Given the description of an element on the screen output the (x, y) to click on. 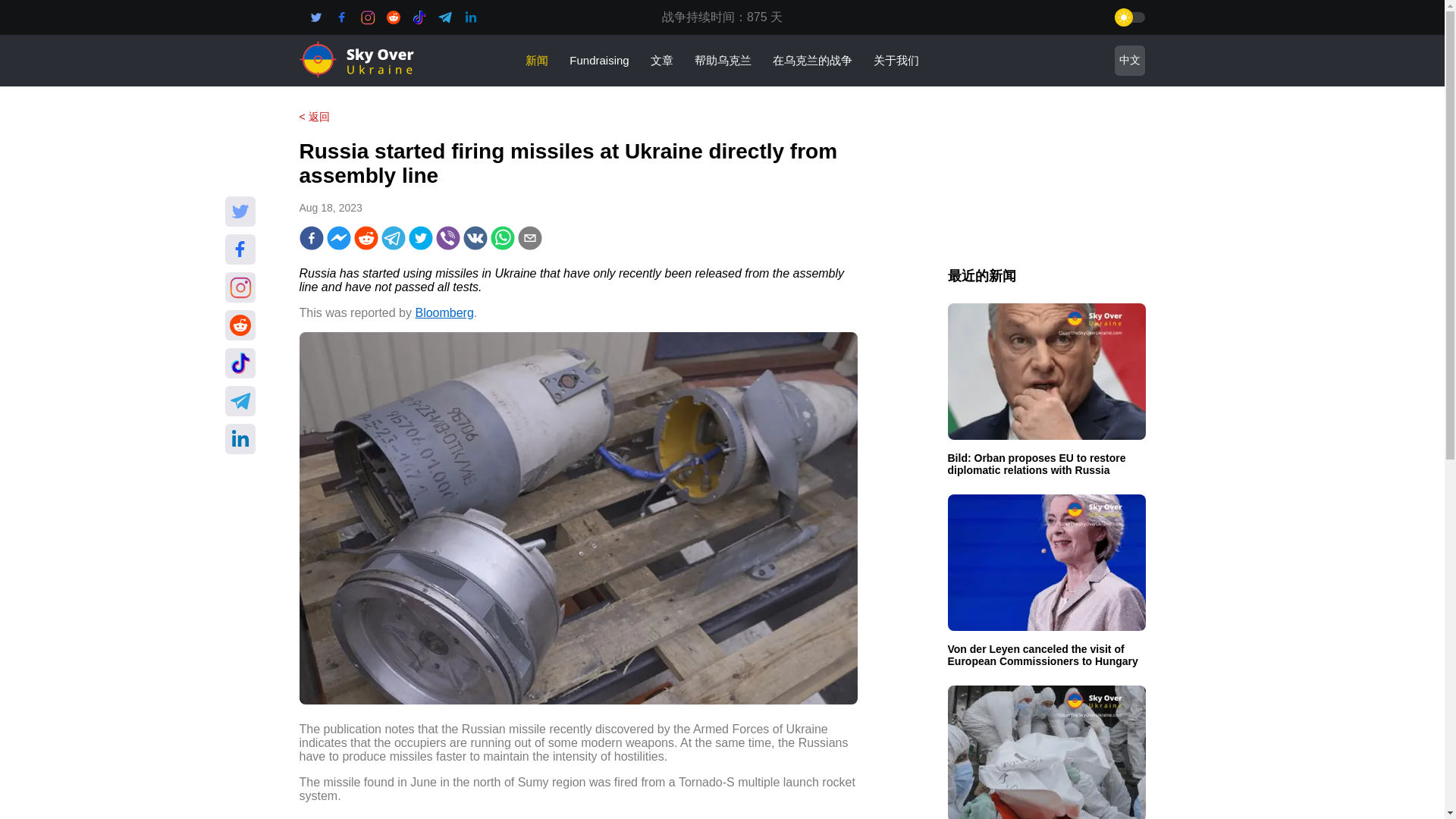
Fundraising (598, 59)
